Given the description of an element on the screen output the (x, y) to click on. 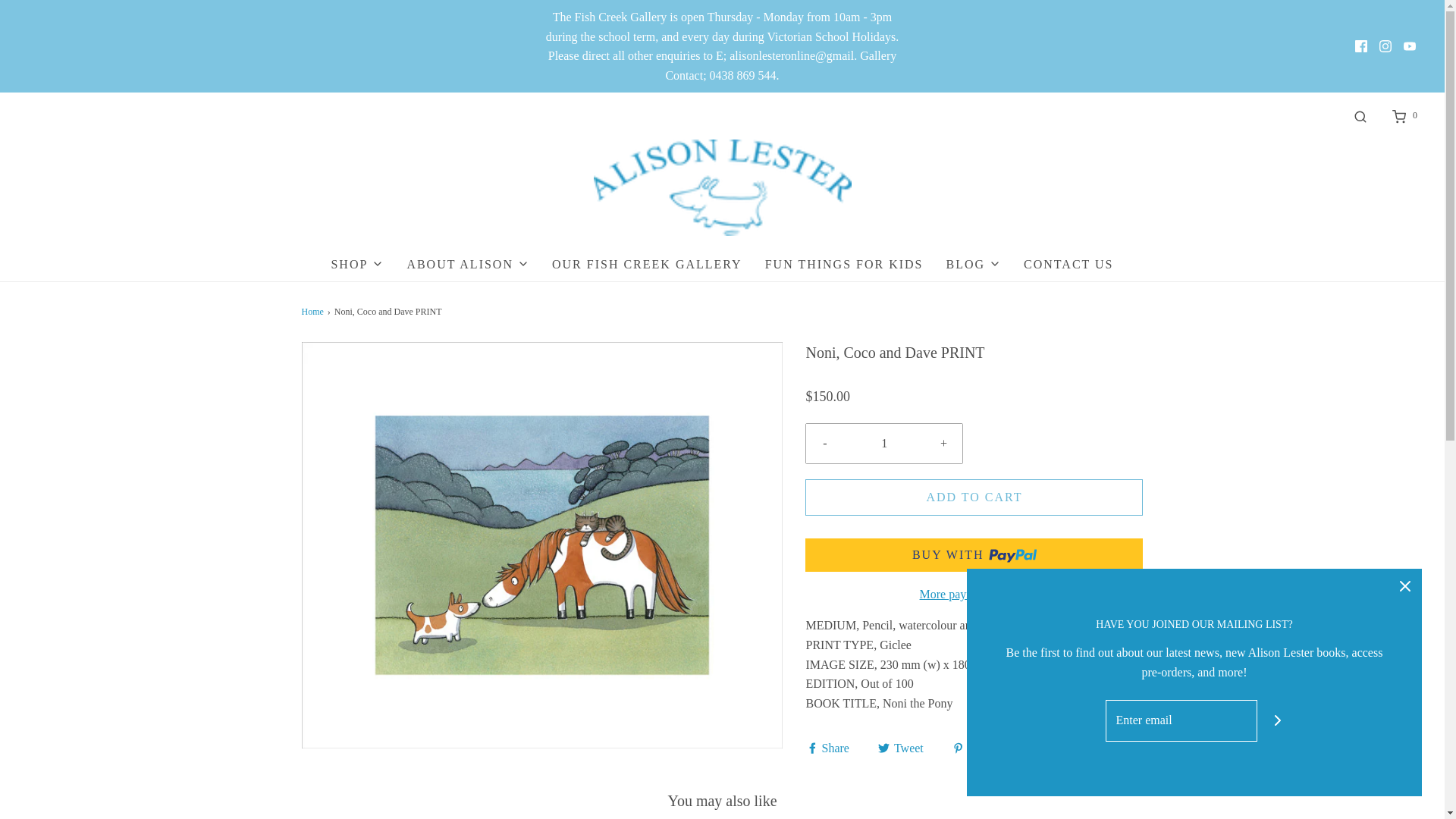
YouTube icon (1409, 46)
Search (1360, 115)
Facebook icon (1361, 46)
OUR FISH CREEK GALLERY (646, 264)
Facebook icon (1361, 46)
YouTube icon (1409, 46)
Cart (1404, 115)
Instagram icon (1385, 46)
Instagram icon (1384, 46)
Back to the frontpage (314, 311)
0 (1404, 115)
1 (884, 443)
SHOP (357, 264)
ABOUT ALISON (467, 264)
